Given the description of an element on the screen output the (x, y) to click on. 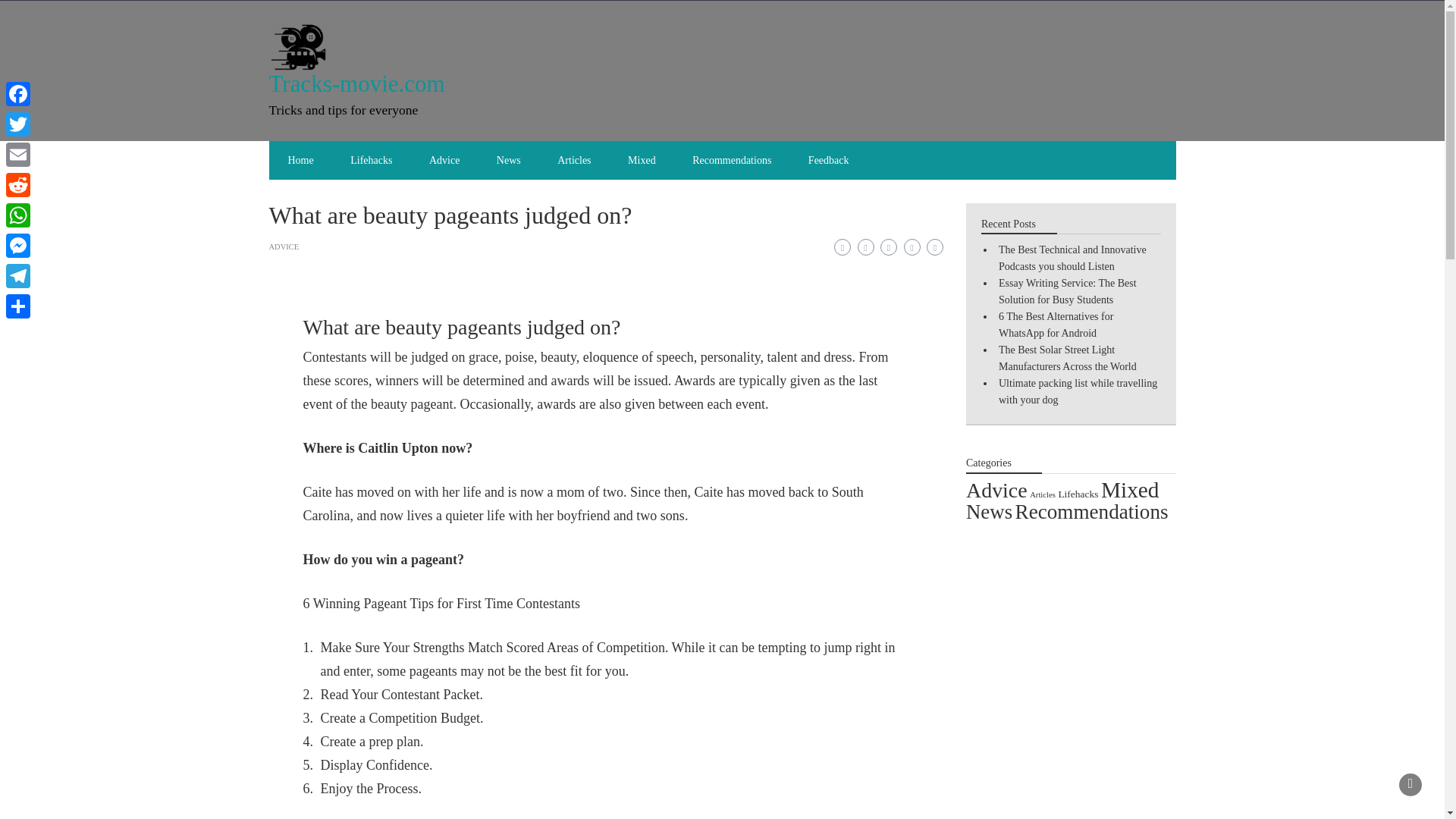
Recommendations (731, 159)
Lifehacks (1077, 493)
Email (17, 154)
The Best Solar Street Light Manufacturers Across the World (1067, 357)
Telegram (17, 276)
The Best Technical and Innovative Podcasts you should Listen (1072, 257)
Mixed (641, 159)
Facebook (17, 93)
Tracks-movie.com (355, 83)
Mixed (1129, 489)
Feedback (828, 159)
Essay Writing Service: The Best Solution for Busy Students (1067, 291)
Advice (996, 490)
6 The Best Alternatives for WhatsApp for Android (1055, 325)
Home (301, 159)
